Given the description of an element on the screen output the (x, y) to click on. 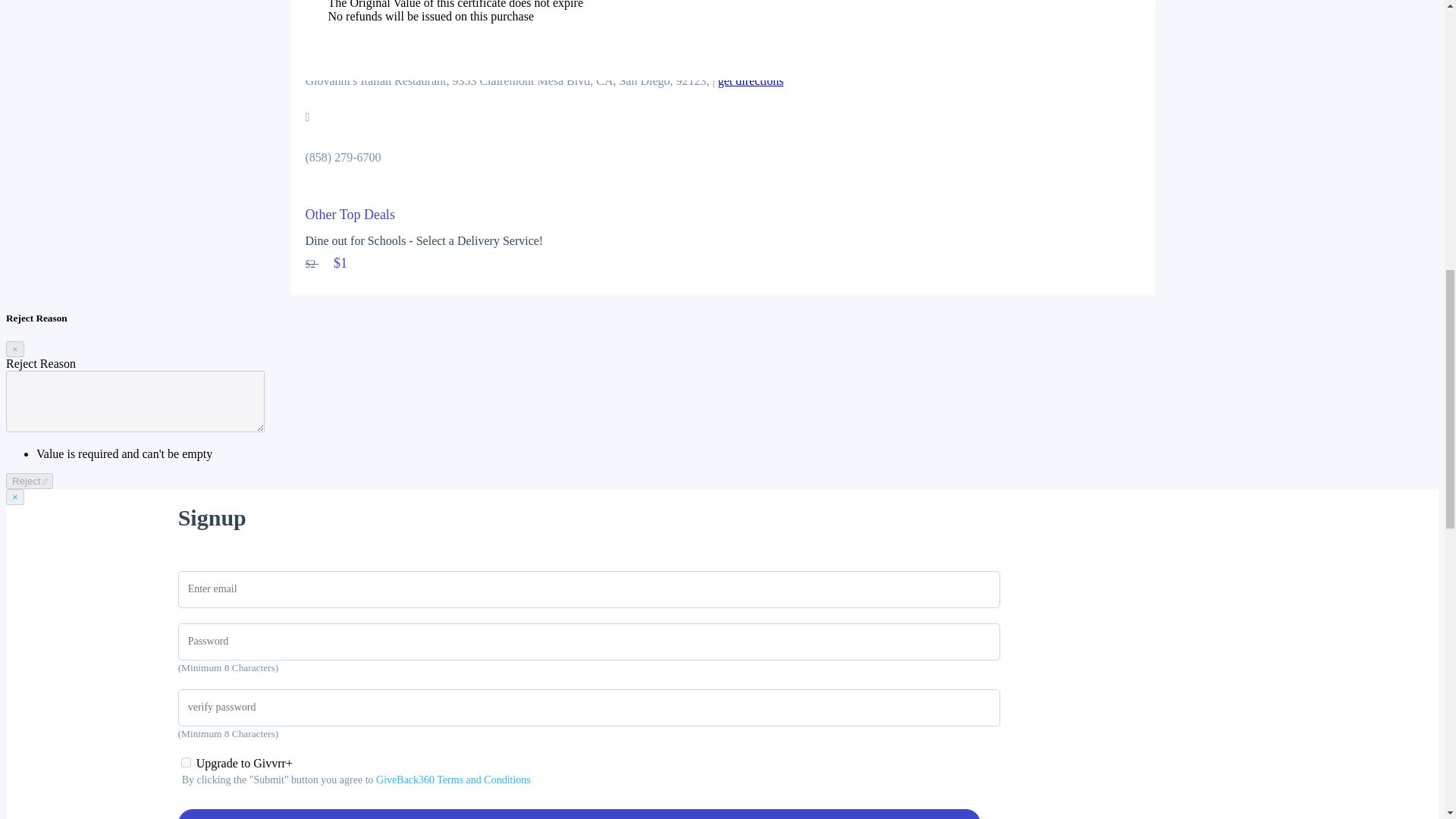
1 (185, 762)
Reject (28, 480)
Dine out for Schools - Select a Delivery Service! (721, 244)
SIGNUP NOW (578, 814)
GiveBack360 Terms and Conditions (453, 779)
get directions (750, 80)
